Given the description of an element on the screen output the (x, y) to click on. 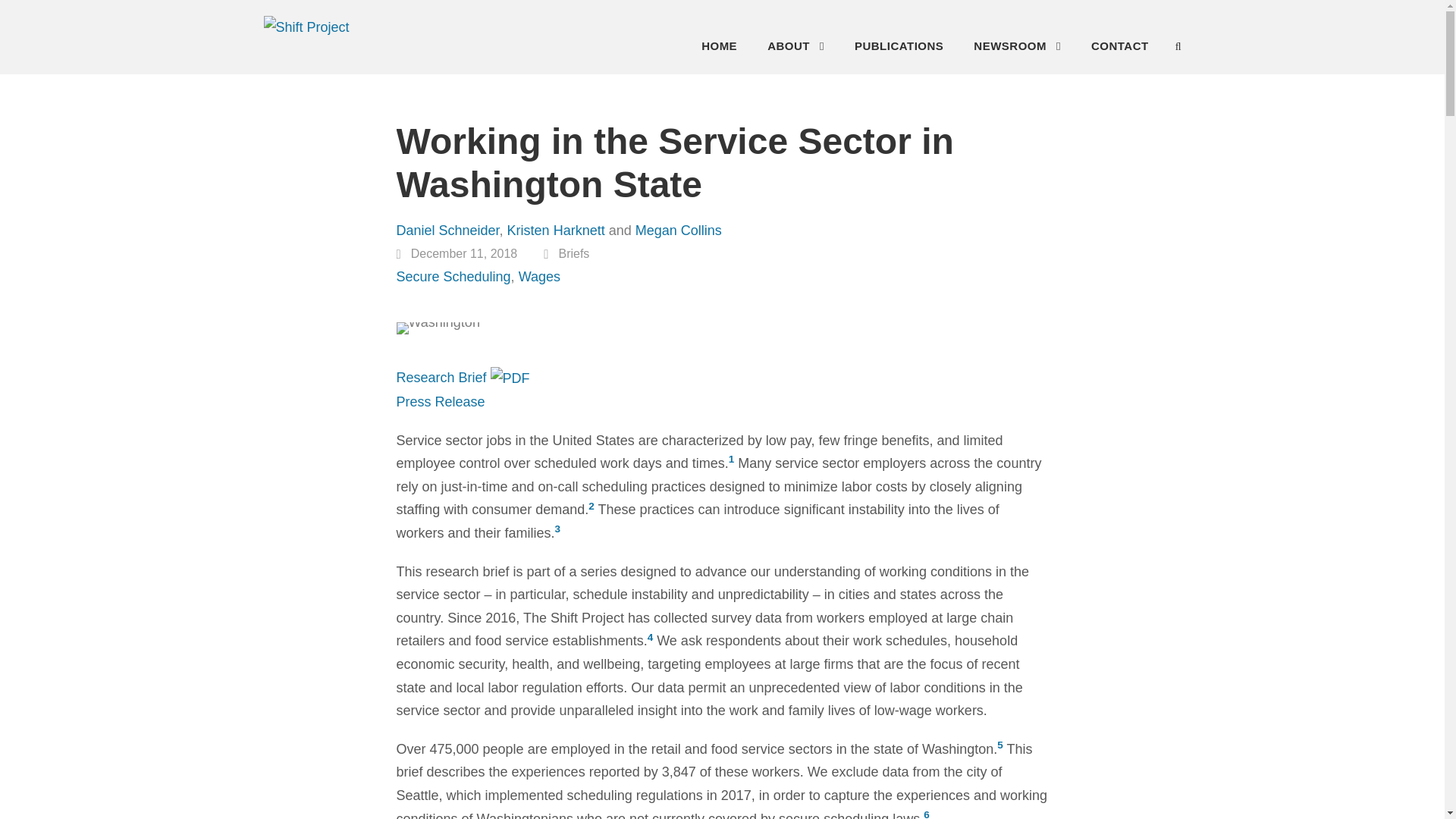
NEWSROOM (1017, 50)
Briefs (573, 253)
Press Release (440, 401)
CONTACT (1119, 50)
Daniel Schneider (447, 230)
ABOUT (795, 50)
Posts by Daniel Schneider (447, 230)
Kristen Harknett (555, 230)
Posts by Kristen Harknett (555, 230)
Posts by Megan Collins (678, 230)
